Given the description of an element on the screen output the (x, y) to click on. 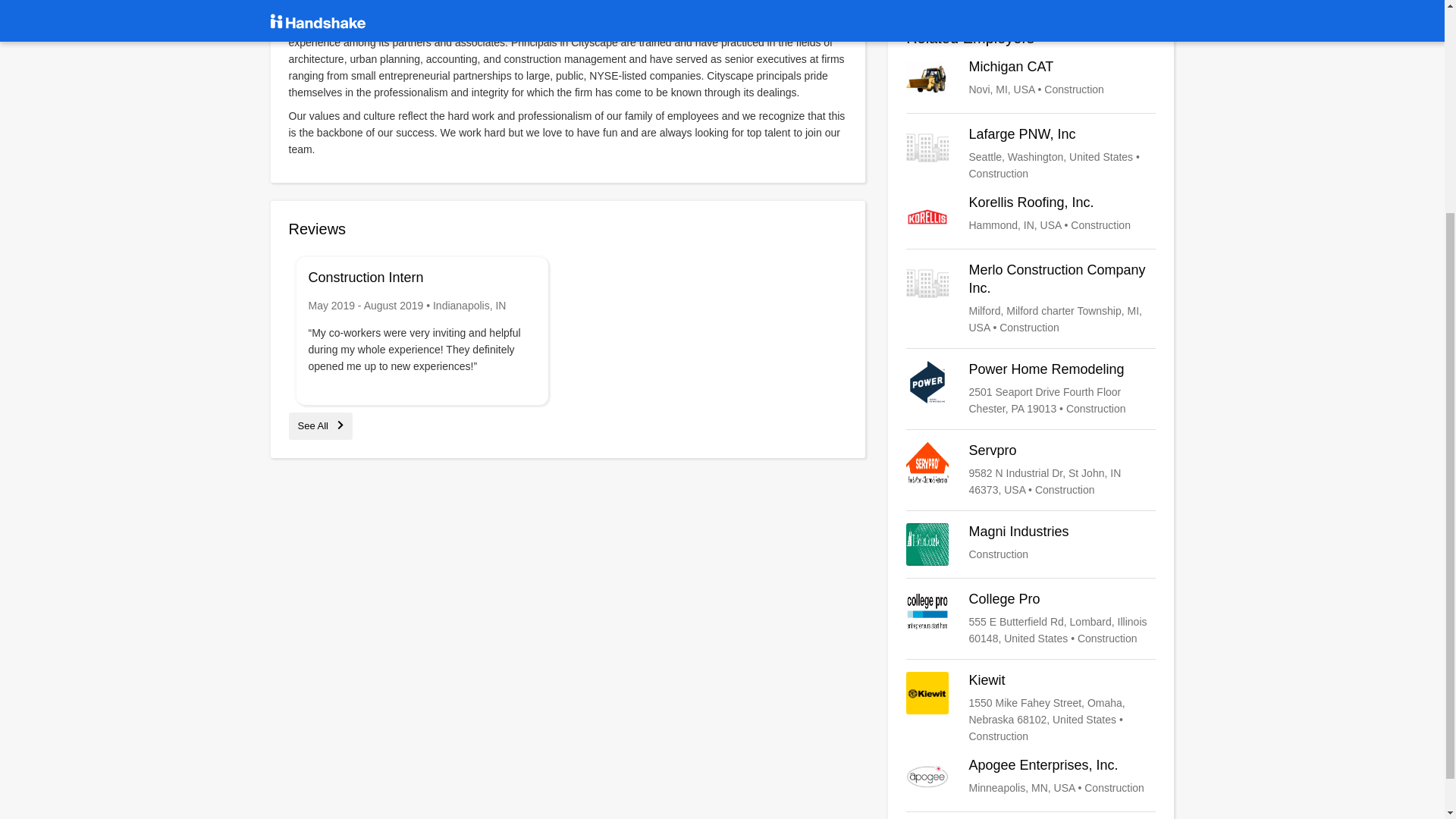
Apogee Enterprises, Inc. (1030, 777)
See All (320, 425)
Kiewit (1030, 707)
Power Home Remodeling (1030, 388)
Michigan CAT (1030, 79)
Servpro (1030, 469)
College Pro (1030, 618)
Magni Industries (1030, 544)
Lafarge PNW, Inc (1030, 544)
Merlo Construction Company Inc. (1030, 153)
Korellis Roofing, Inc. (1030, 298)
